Given the description of an element on the screen output the (x, y) to click on. 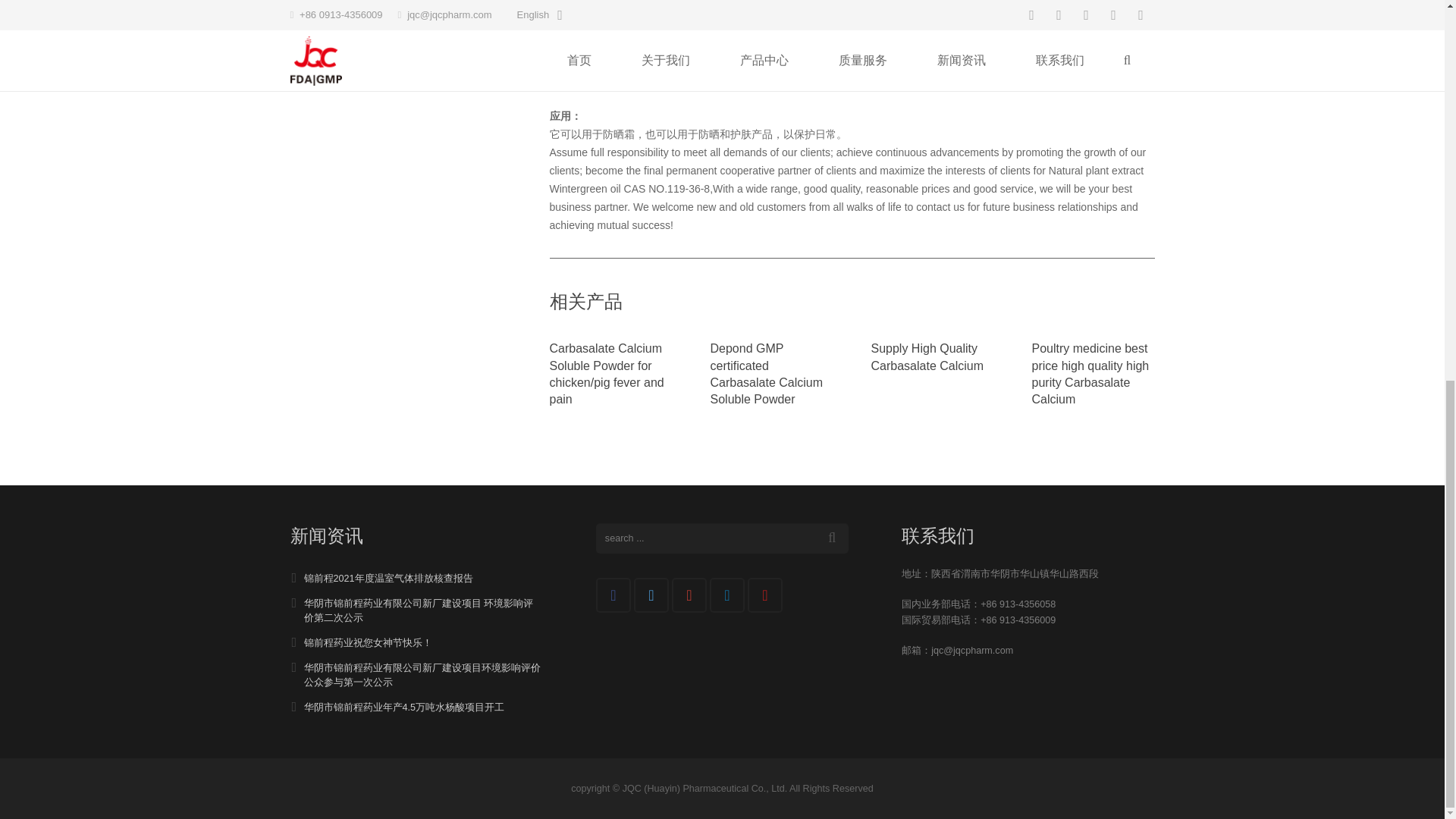
Back to top (1413, 133)
